Given the description of an element on the screen output the (x, y) to click on. 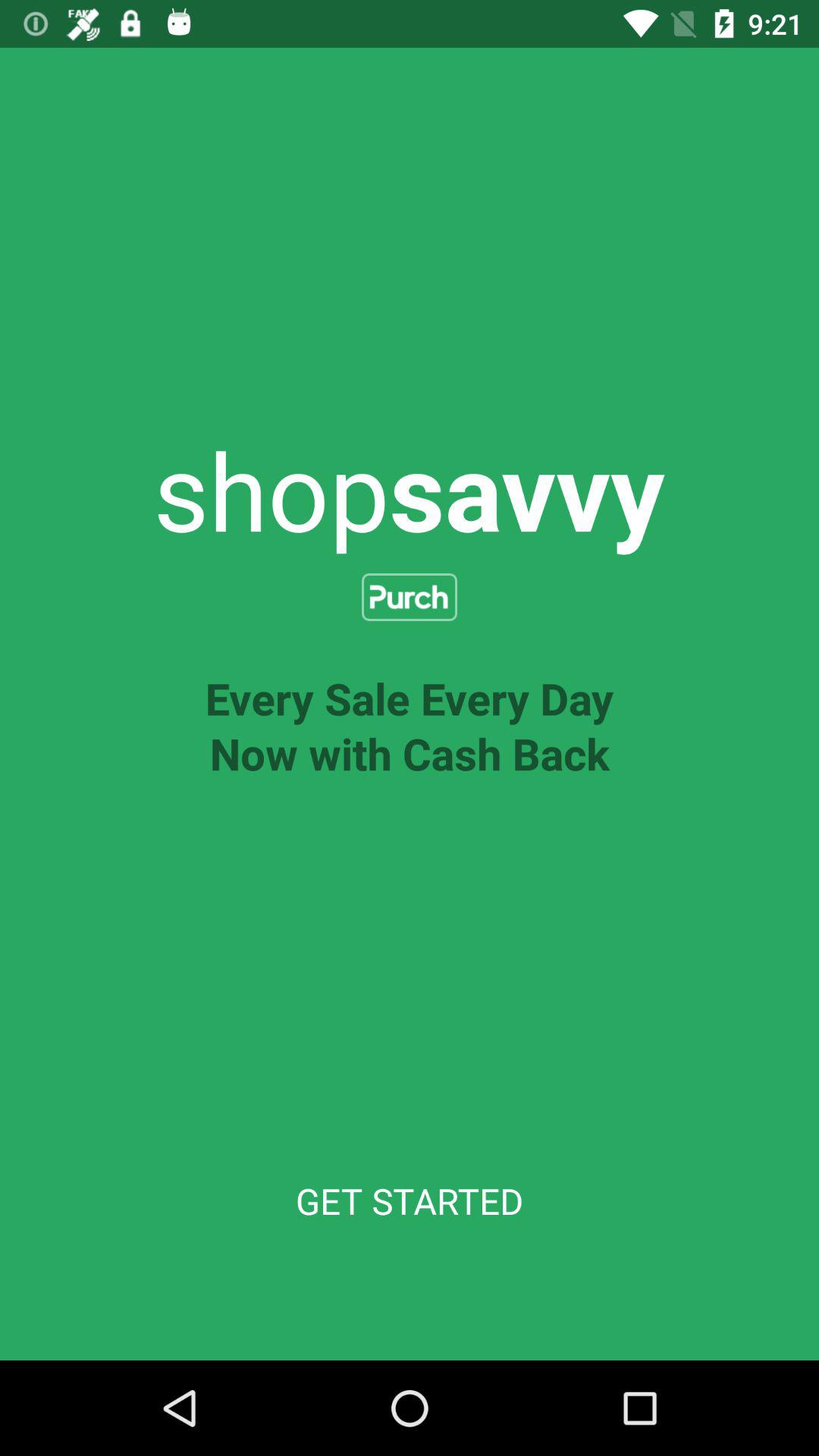
select get started icon (409, 1201)
